Given the description of an element on the screen output the (x, y) to click on. 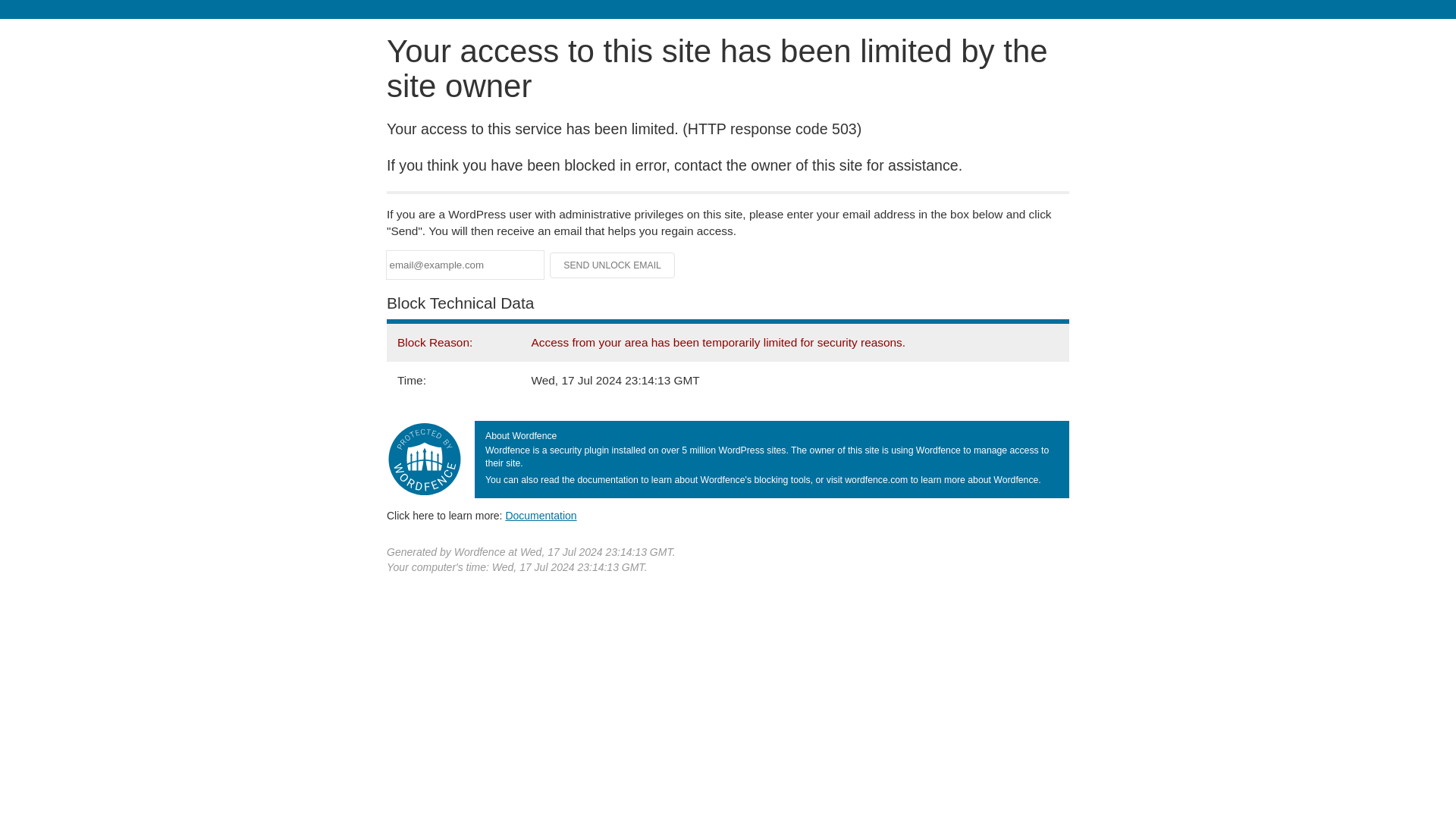
Documentation (540, 515)
Send Unlock Email (612, 265)
Send Unlock Email (612, 265)
